Given the description of an element on the screen output the (x, y) to click on. 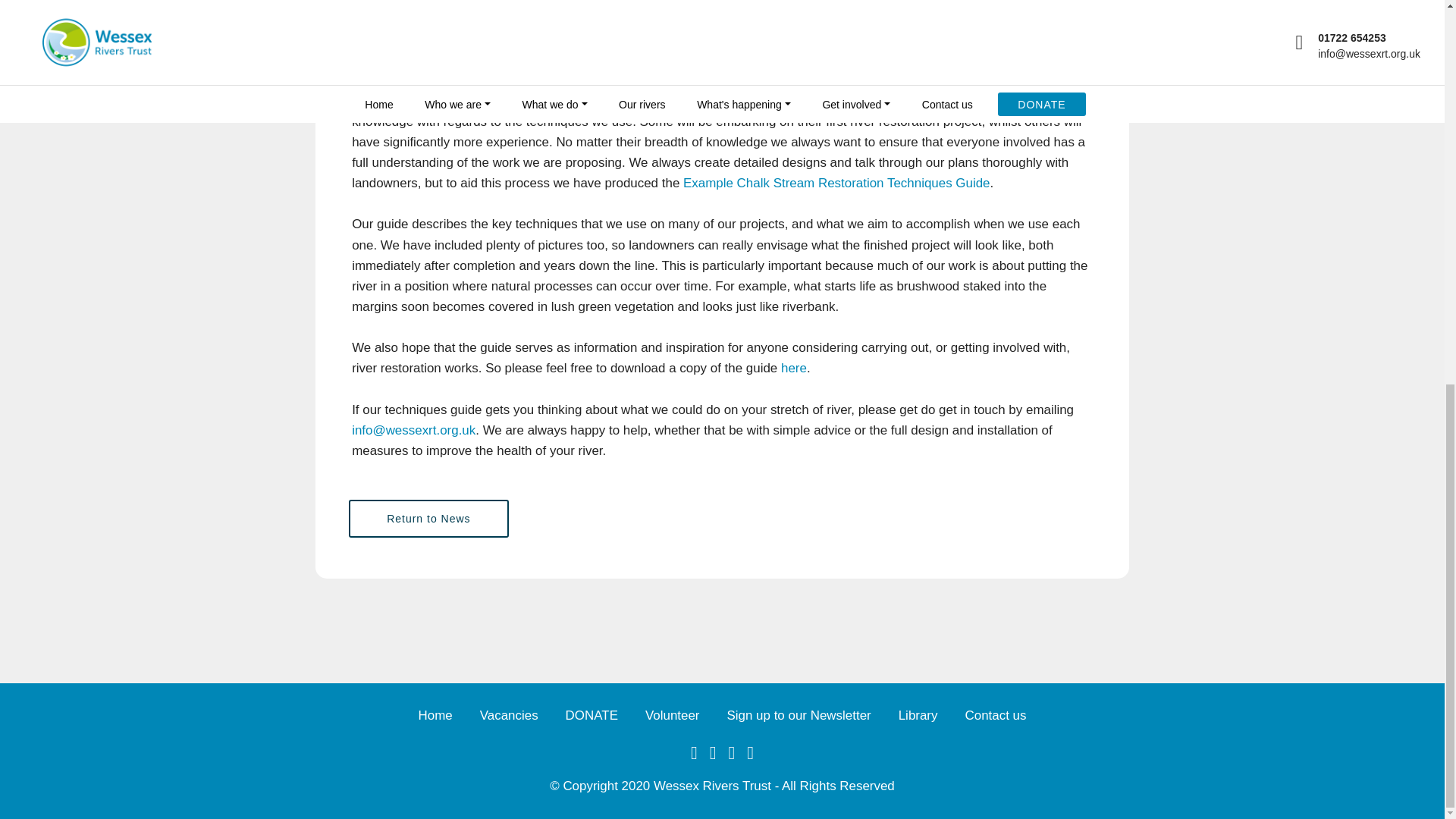
Contact us (994, 714)
Vacancies (509, 714)
DONATE (591, 714)
Sign up to our Newsletter (798, 714)
Home (435, 714)
Volunteer (672, 714)
Example Chalk Stream Restoration Techniques Guide (836, 183)
Return to News (428, 518)
here (793, 368)
Library (917, 714)
